Given the description of an element on the screen output the (x, y) to click on. 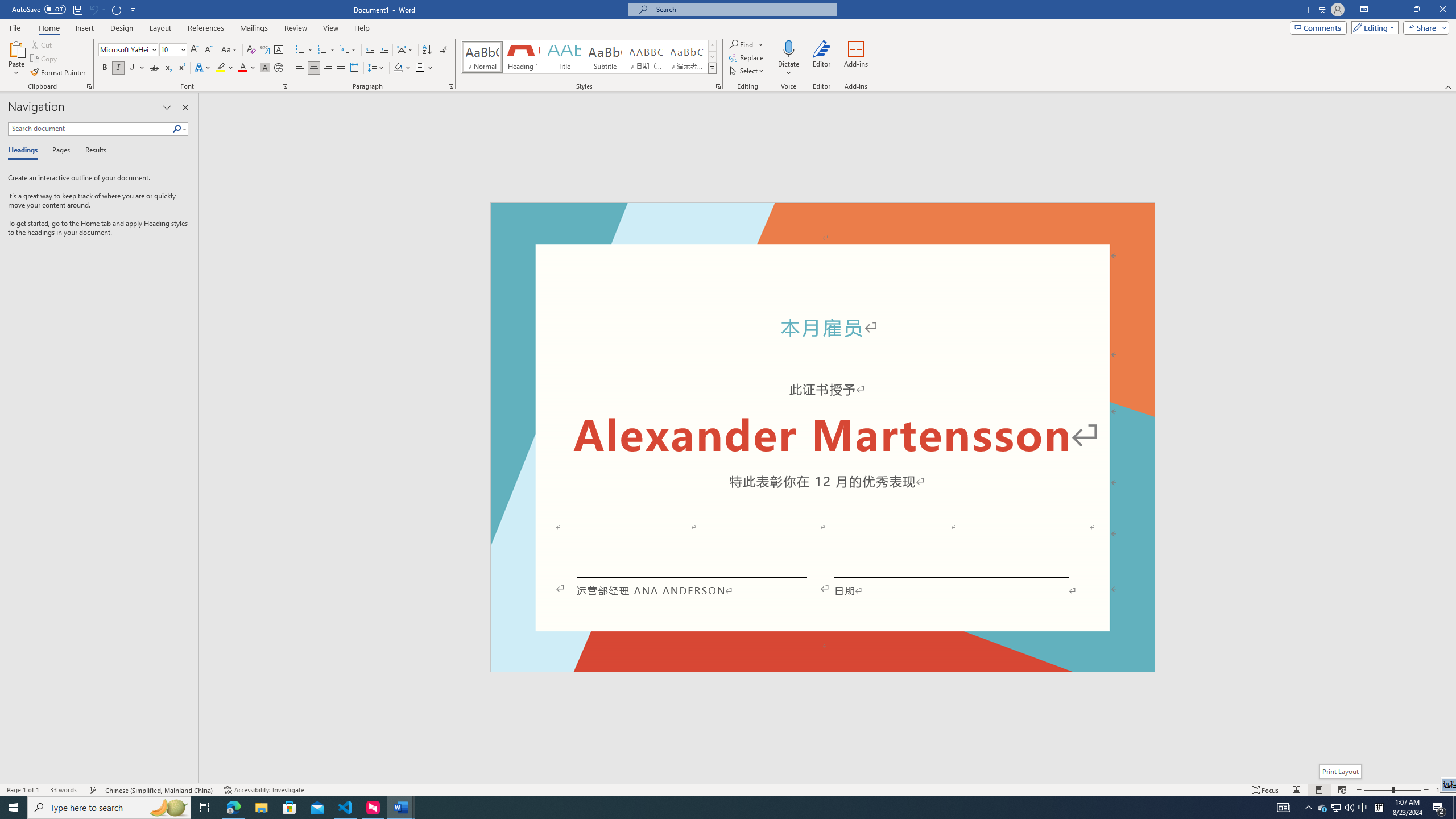
Repeat Doc Close (117, 9)
Spelling and Grammar Check Checking (91, 790)
